Given the description of an element on the screen output the (x, y) to click on. 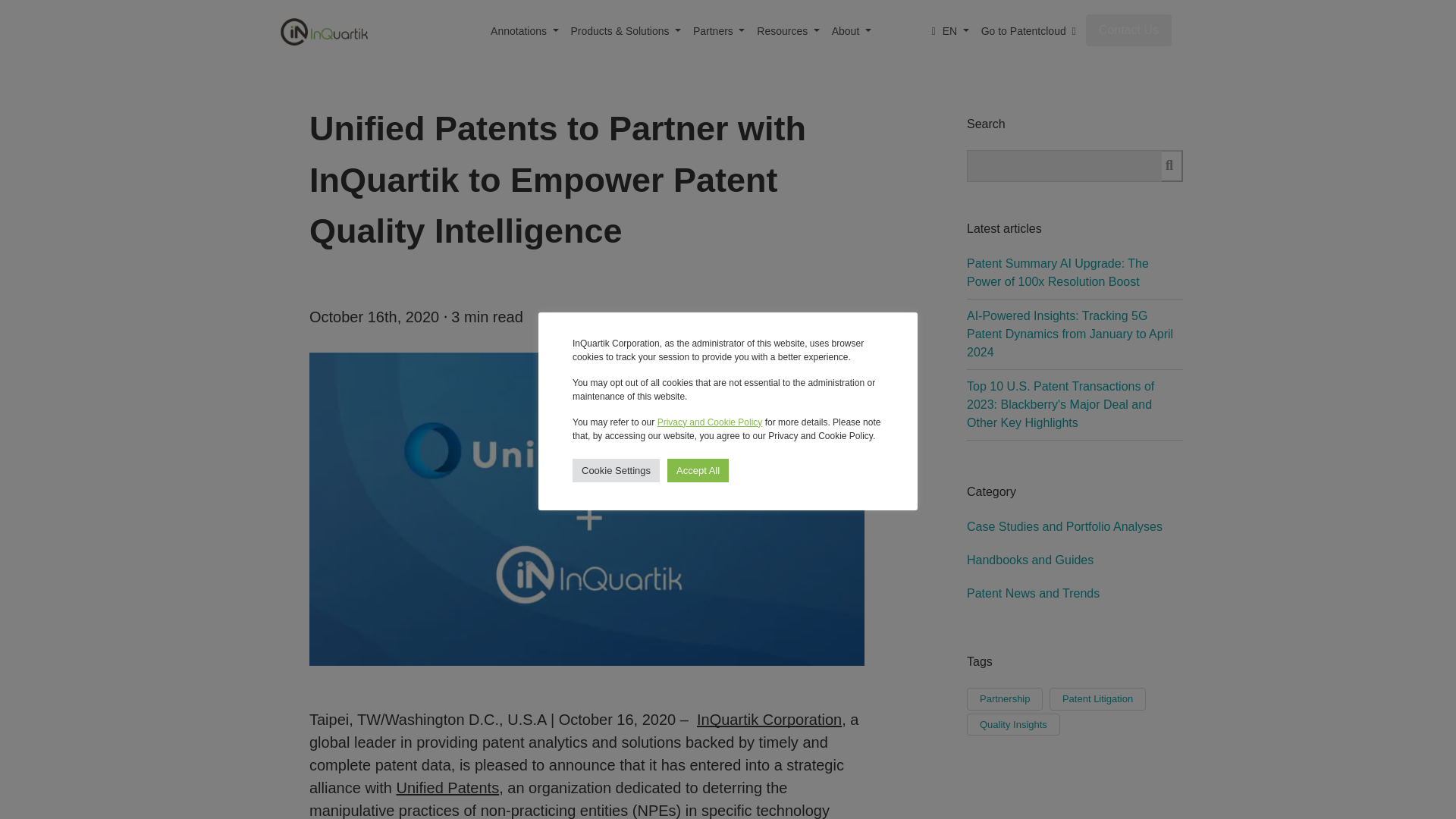
Annotations (524, 30)
 InQuartik (324, 31)
InQuartik (322, 29)
